Given the description of an element on the screen output the (x, y) to click on. 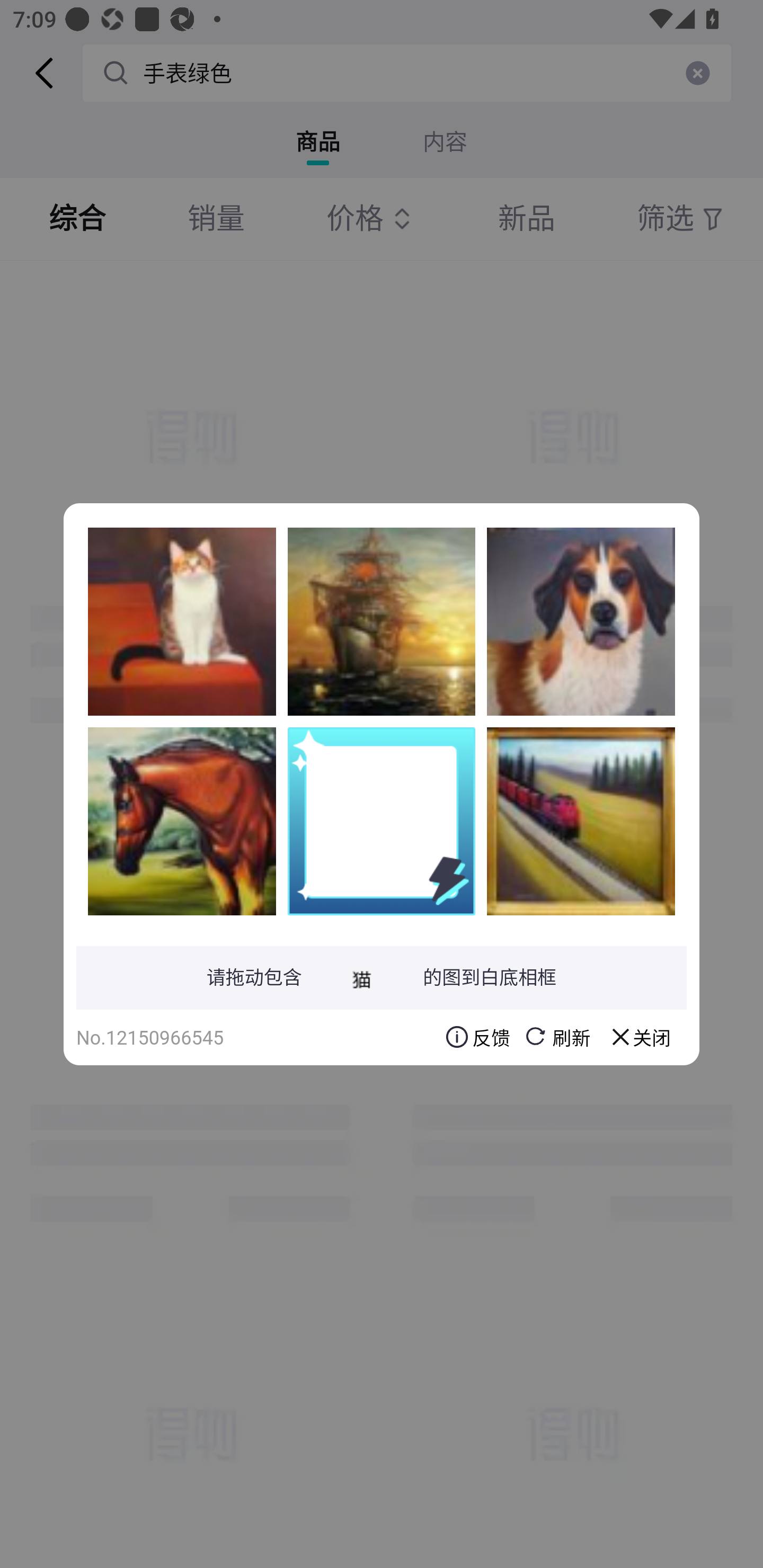
FhQttoU (181, 621)
VESf+L9DAgVYJzro (381, 621)
0MDpNIPooJ6RLNE6yY5jGQ (181, 820)
W0eMZL5M2Y0ztG (580, 820)
